Given the description of an element on the screen output the (x, y) to click on. 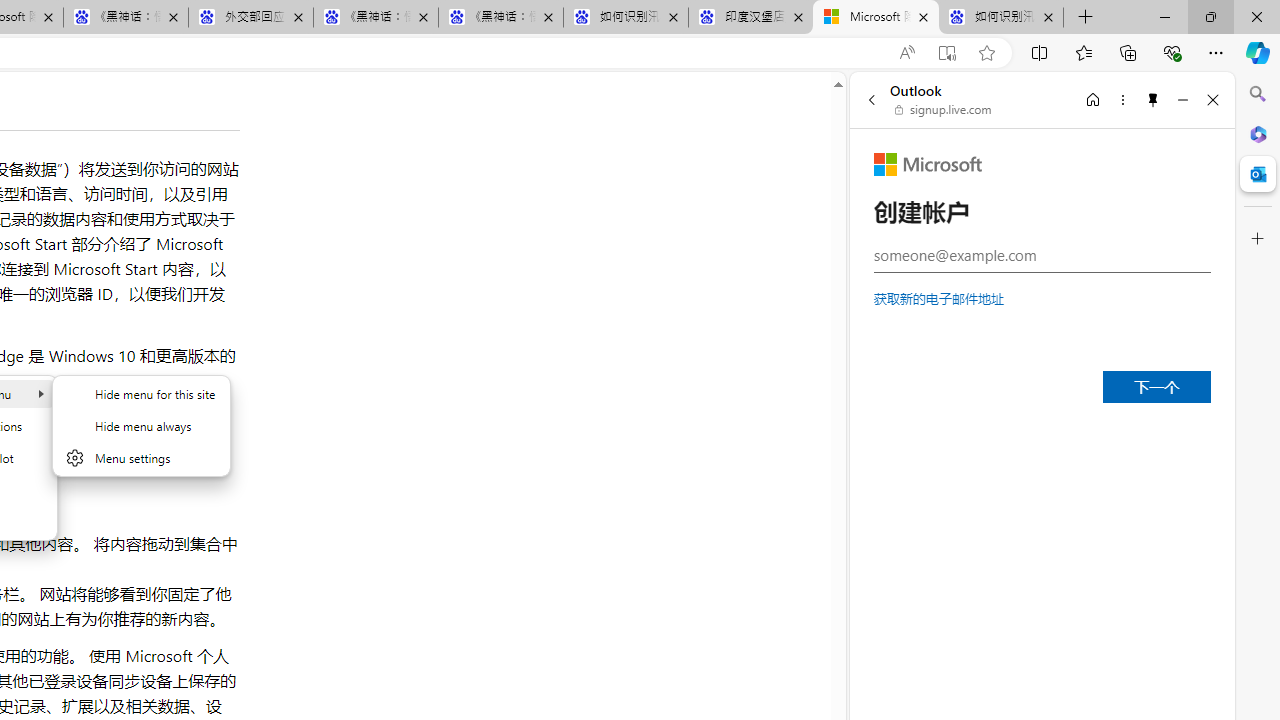
Menu settings (141, 457)
Hide menu (141, 425)
Hide menu always (141, 425)
